Given the description of an element on the screen output the (x, y) to click on. 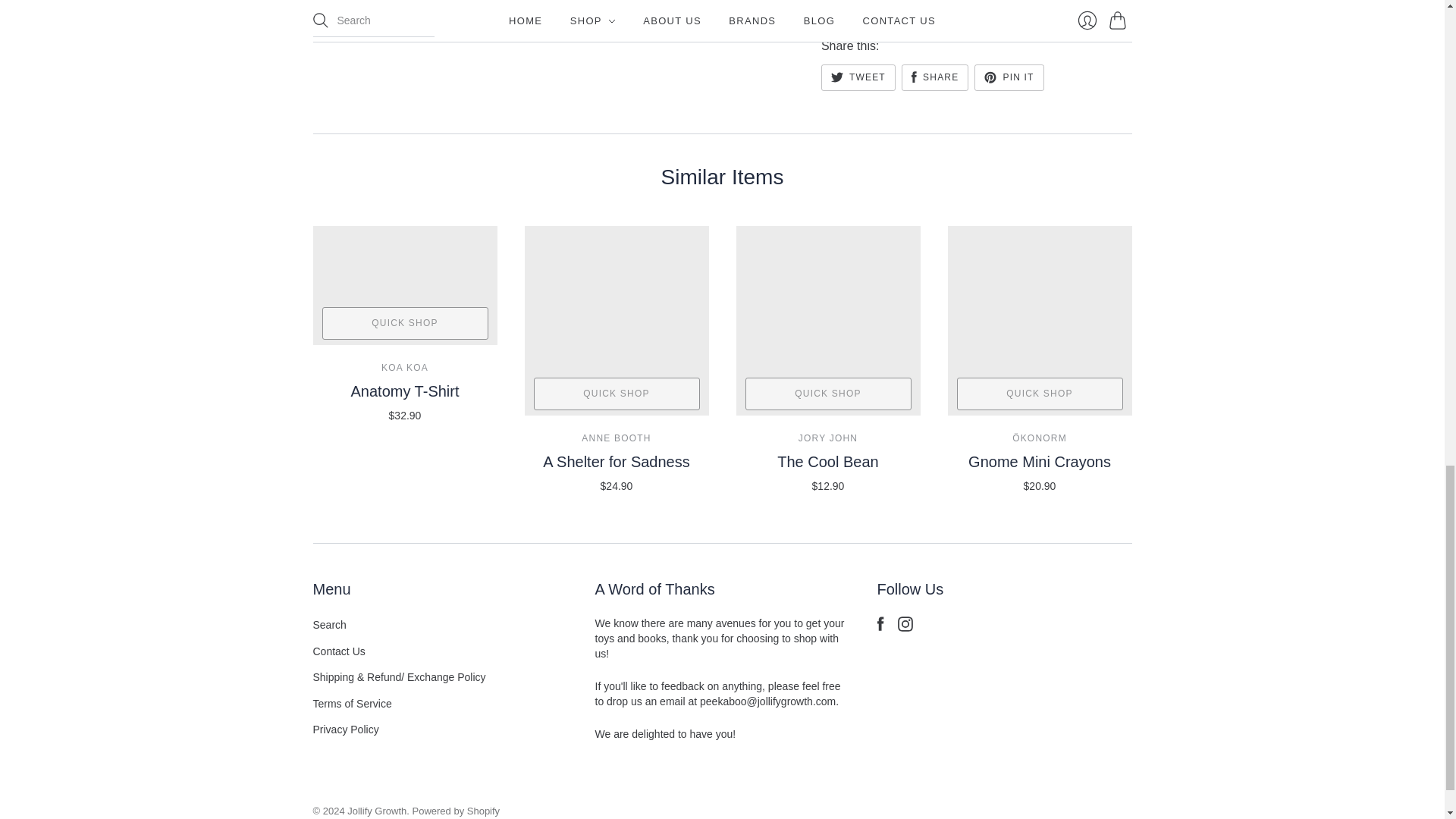
Anne Booth (615, 438)
Jory John (827, 438)
Koa Koa (404, 367)
